Given the description of an element on the screen output the (x, y) to click on. 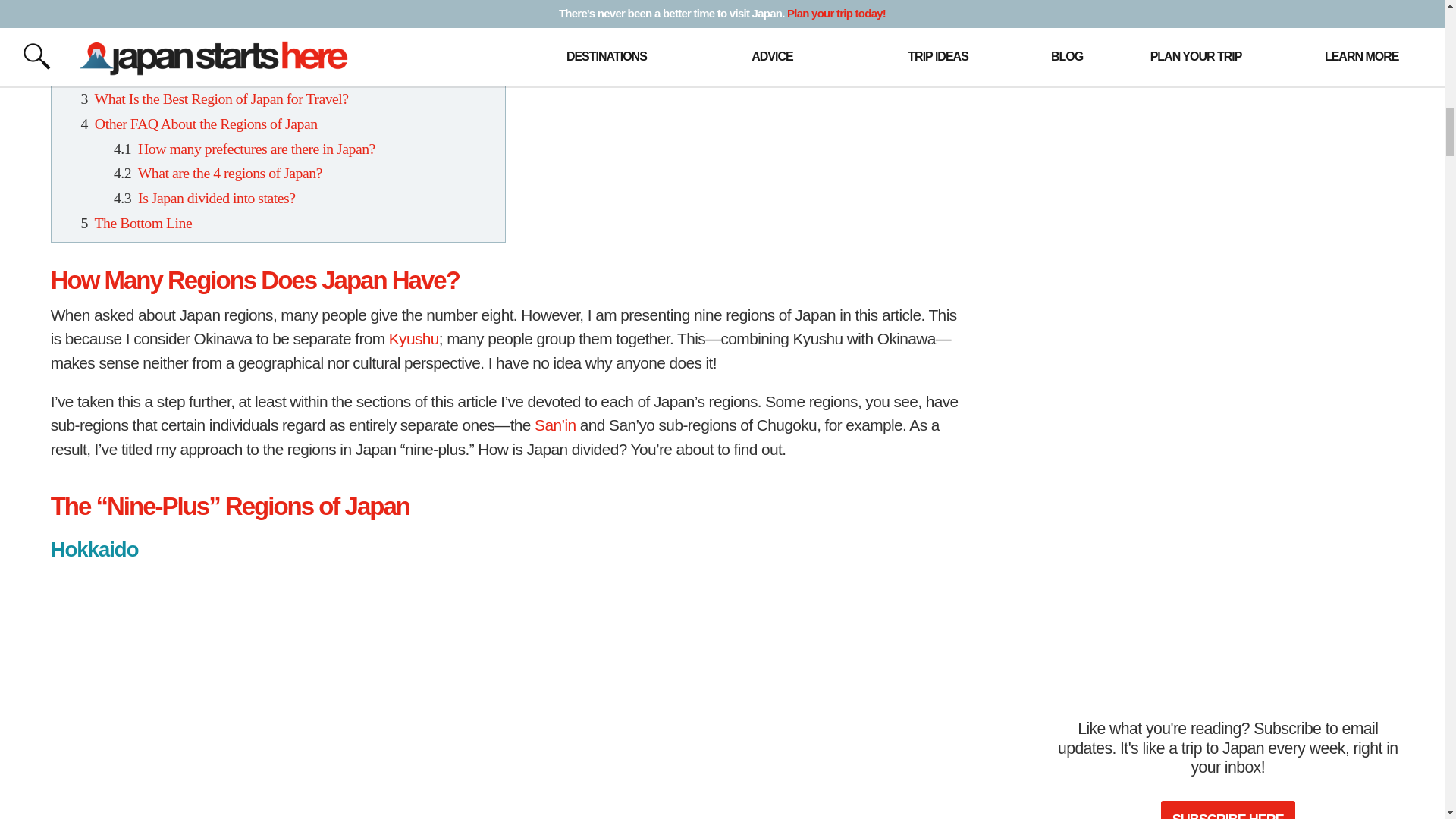
Kyushu (160, 48)
Okinawa (163, 74)
Other FAQ About the Regions of Japan (205, 123)
What Is the Best Region of Japan for Travel? (221, 98)
How many prefectures are there in Japan? (256, 148)
Chugoku (164, 23)
Shikoku (161, 3)
What are the 4 regions of Japan? (229, 172)
